Given the description of an element on the screen output the (x, y) to click on. 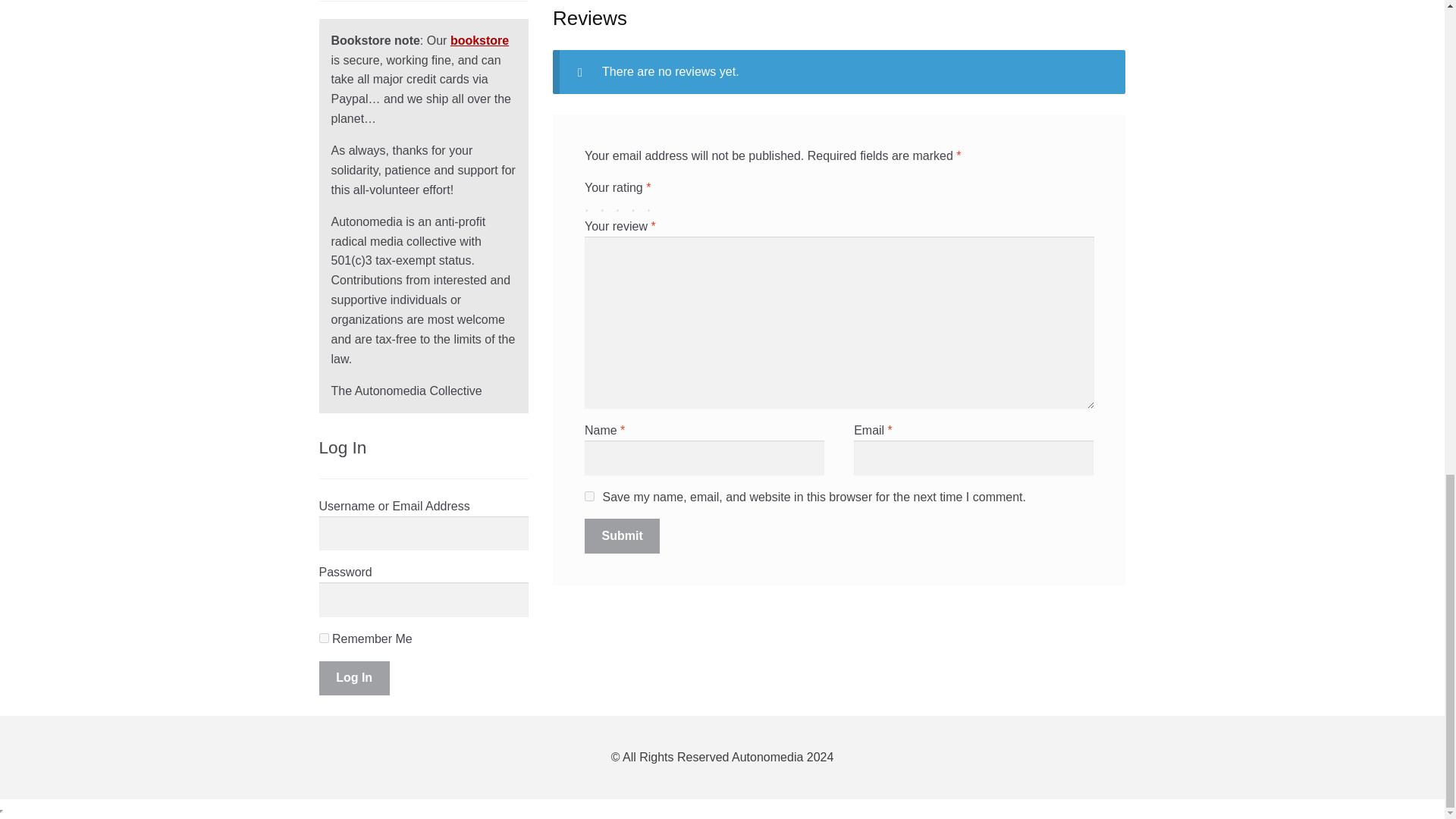
5 (652, 204)
Submit (623, 535)
Log In (354, 678)
4 (636, 204)
1 (590, 204)
yes (589, 496)
2 (605, 204)
3 (621, 204)
forever (323, 637)
Submit (623, 535)
